Given the description of an element on the screen output the (x, y) to click on. 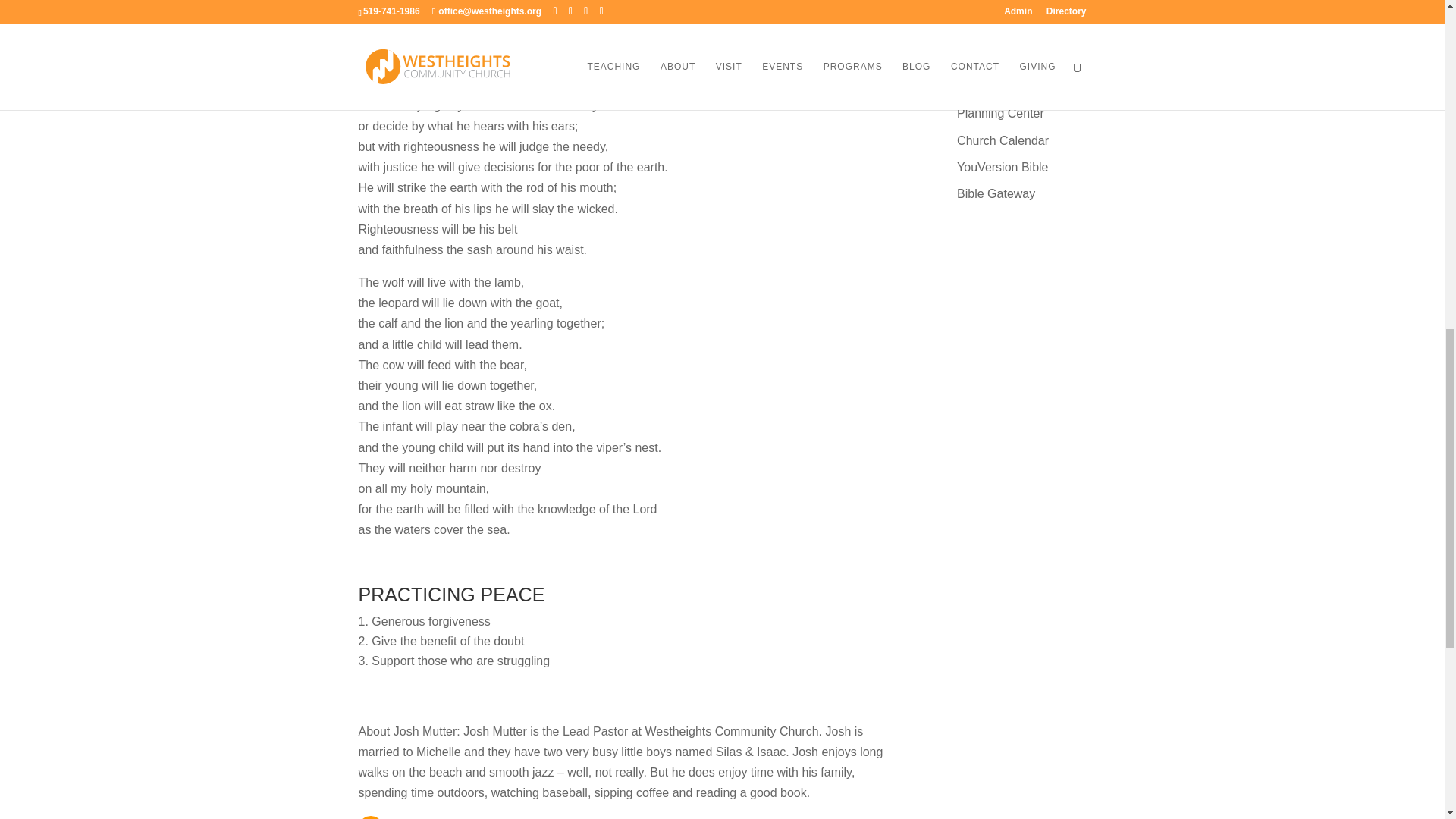
Play (369, 817)
